Given the description of an element on the screen output the (x, y) to click on. 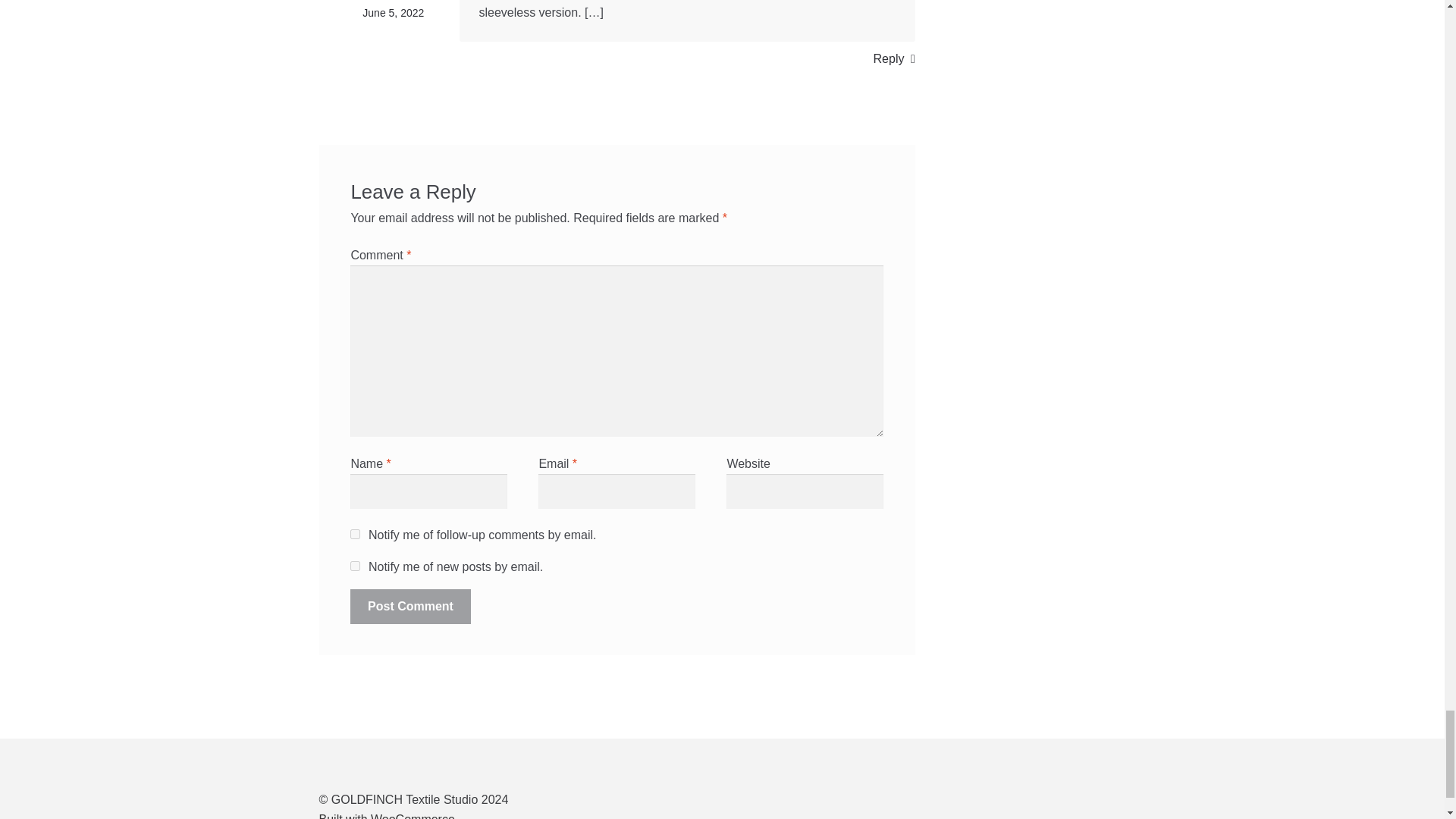
Post Comment (410, 606)
subscribe (354, 565)
WooCommerce - The Best eCommerce Platform for WordPress (386, 816)
subscribe (354, 533)
